Given the description of an element on the screen output the (x, y) to click on. 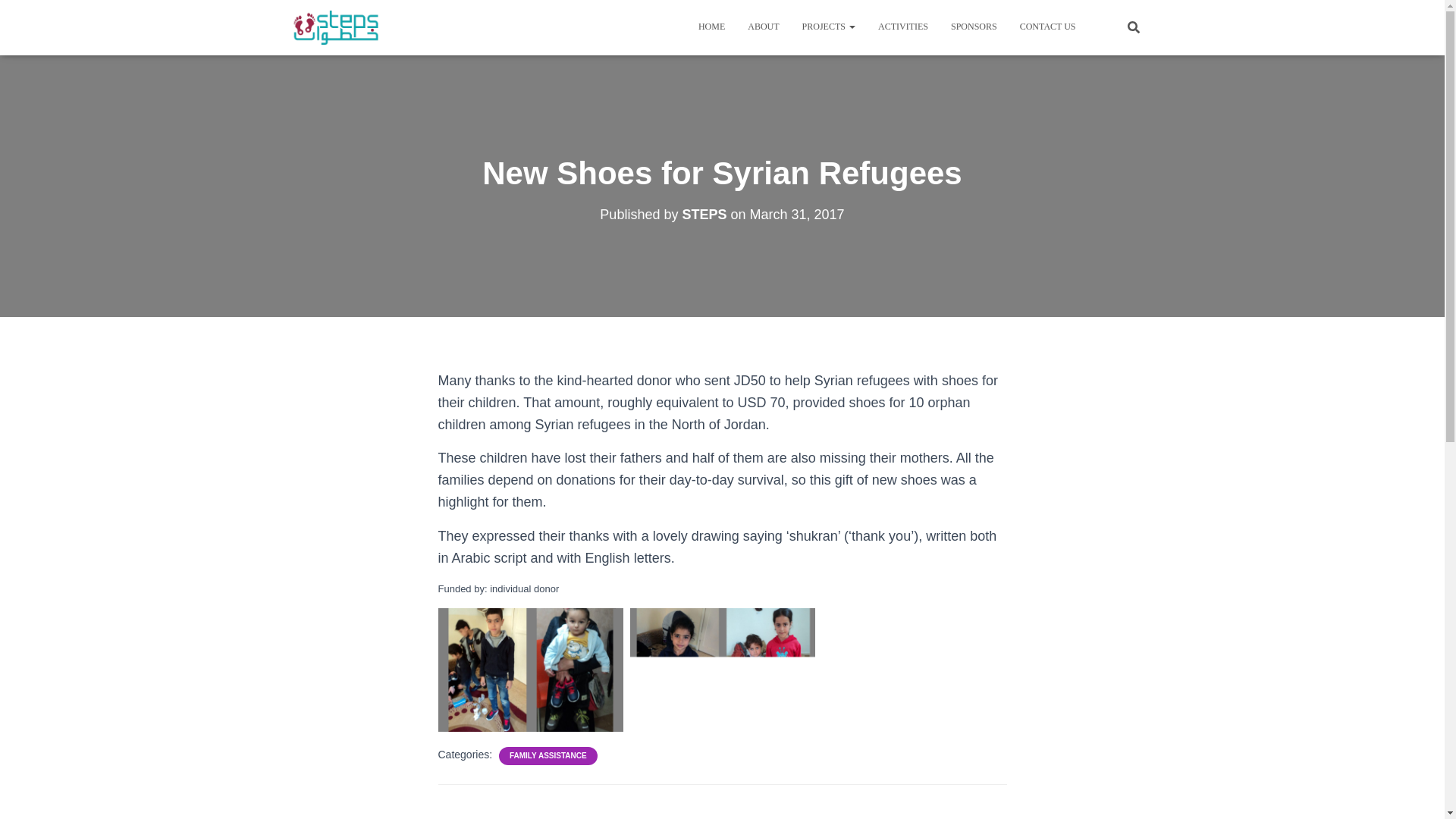
Search (16, 16)
About (763, 26)
Sponsors (974, 26)
SPONSORS (974, 26)
STEPS Org (336, 27)
CONTACT US (1048, 26)
HOME (711, 26)
Contact Us (1048, 26)
PROJECTS (828, 26)
FAMILY ASSISTANCE (548, 756)
